Given the description of an element on the screen output the (x, y) to click on. 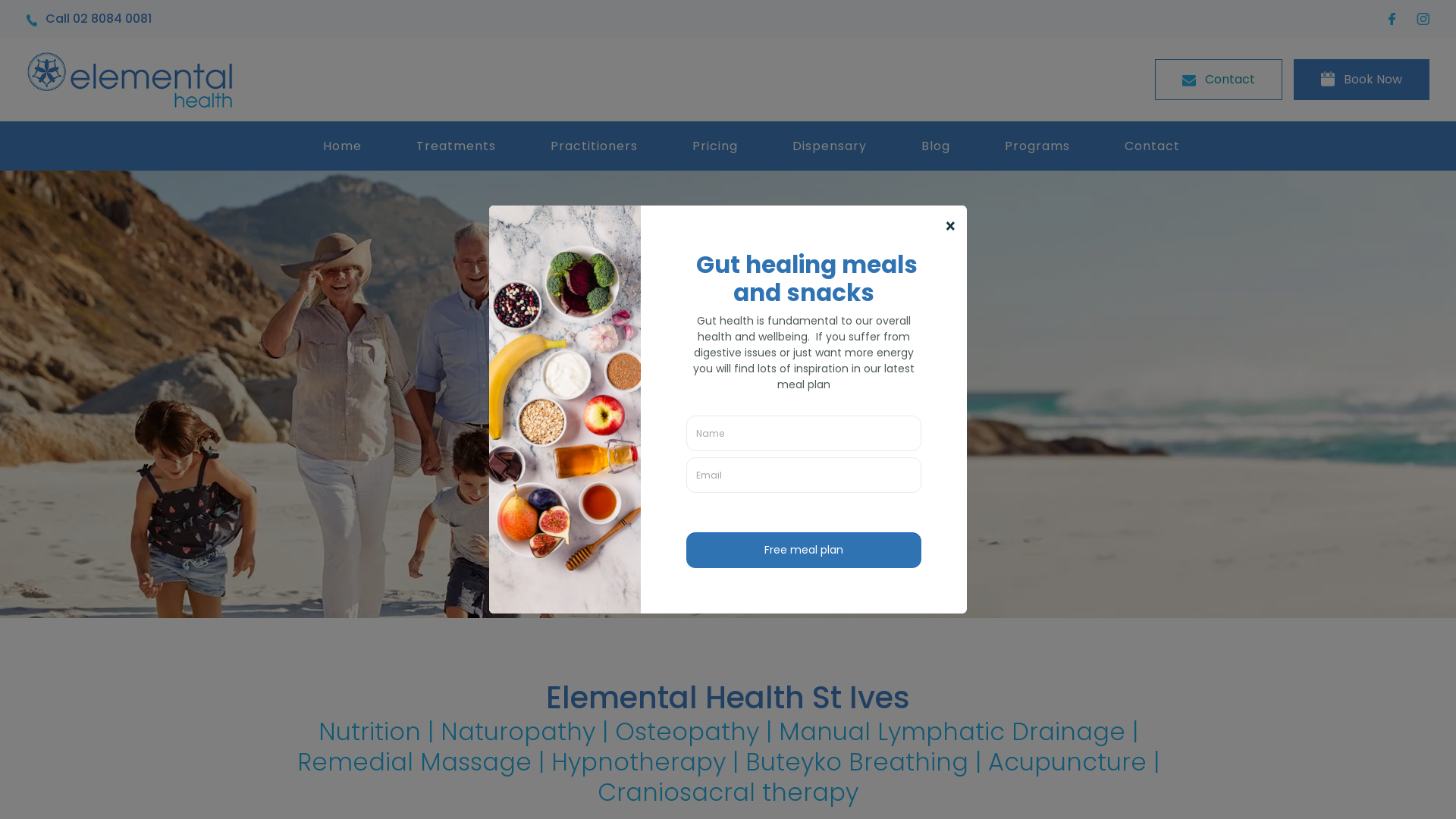
facebook Element type: text (1394, 18)
Programs Element type: text (1037, 145)
Contact Element type: text (1152, 145)
Treatments Element type: text (455, 145)
Pricing Element type: text (714, 145)
Contact Element type: text (1218, 79)
Practitioners Element type: text (594, 145)
Book Now Element type: text (1361, 79)
Call 02 8084 0081 Element type: text (88, 18)
Blog Element type: text (935, 145)
Home Element type: text (342, 145)
Dispensary Element type: text (829, 145)
Elemental Health Element type: hover (129, 78)
instagram Element type: text (1422, 18)
